Given the description of an element on the screen output the (x, y) to click on. 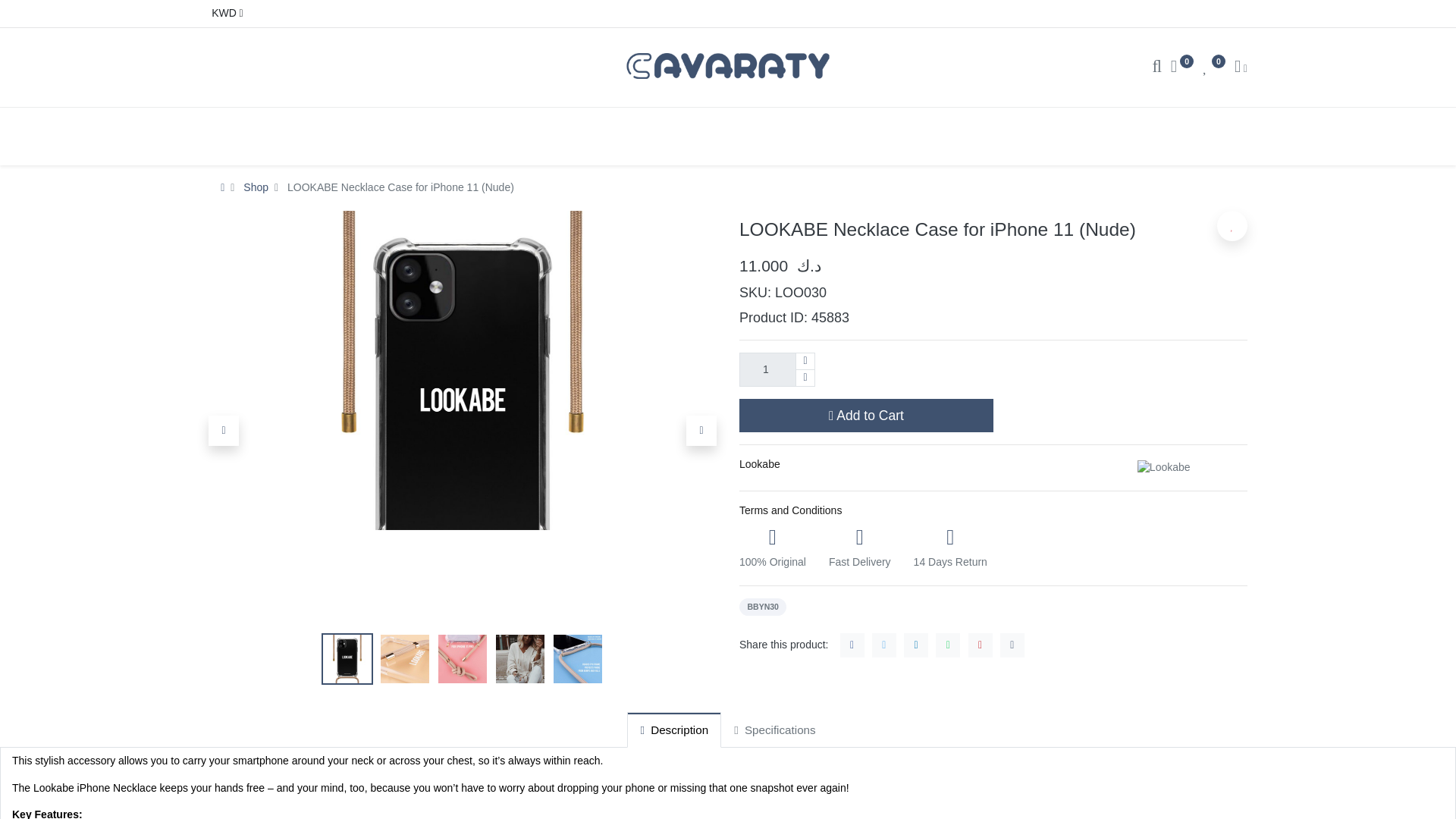
0 (1213, 68)
KWD (225, 13)
0 (1181, 68)
1 (777, 369)
CAVARATY (727, 64)
